Given the description of an element on the screen output the (x, y) to click on. 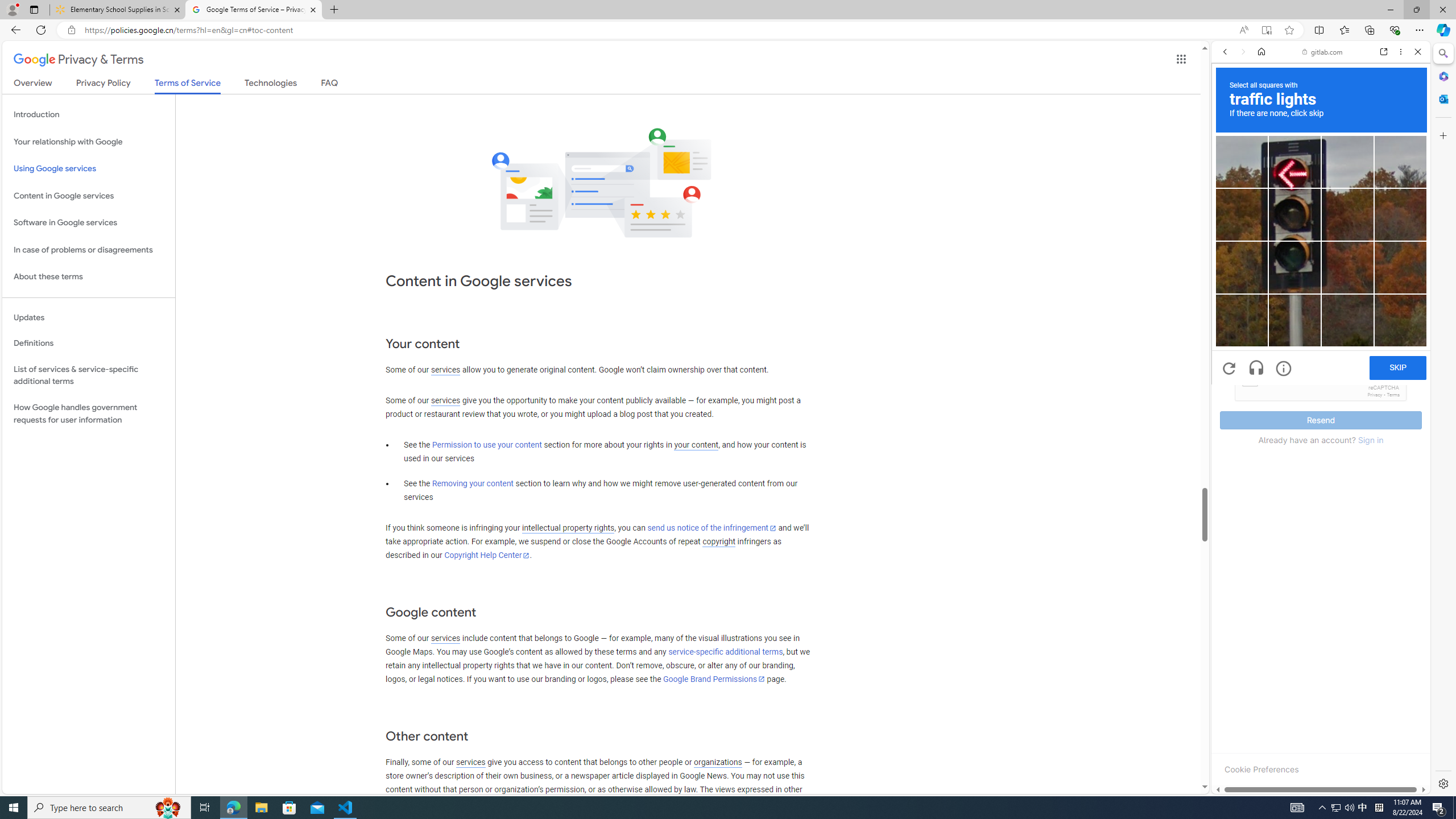
Login (1320, 281)
I'm not a robot (1249, 378)
Register Now (1320, 253)
Dashboard (1320, 364)
Cookie Preferences (1261, 769)
